Given the description of an element on the screen output the (x, y) to click on. 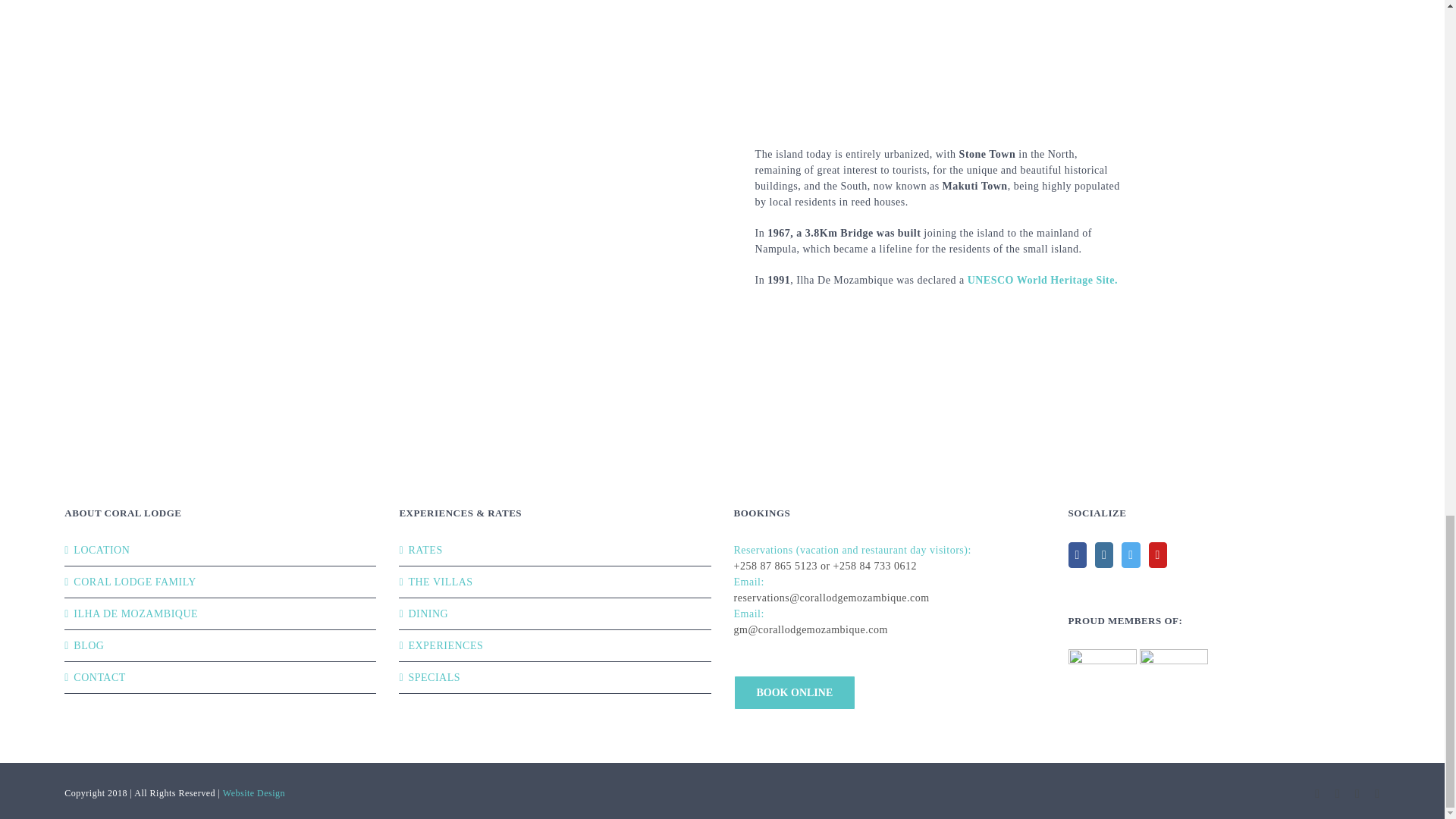
Ilha de mozambique bridge (505, 284)
Old fort Ilha de mozambique (939, 42)
Book A Holiday In Mozambique Online (794, 692)
